Given the description of an element on the screen output the (x, y) to click on. 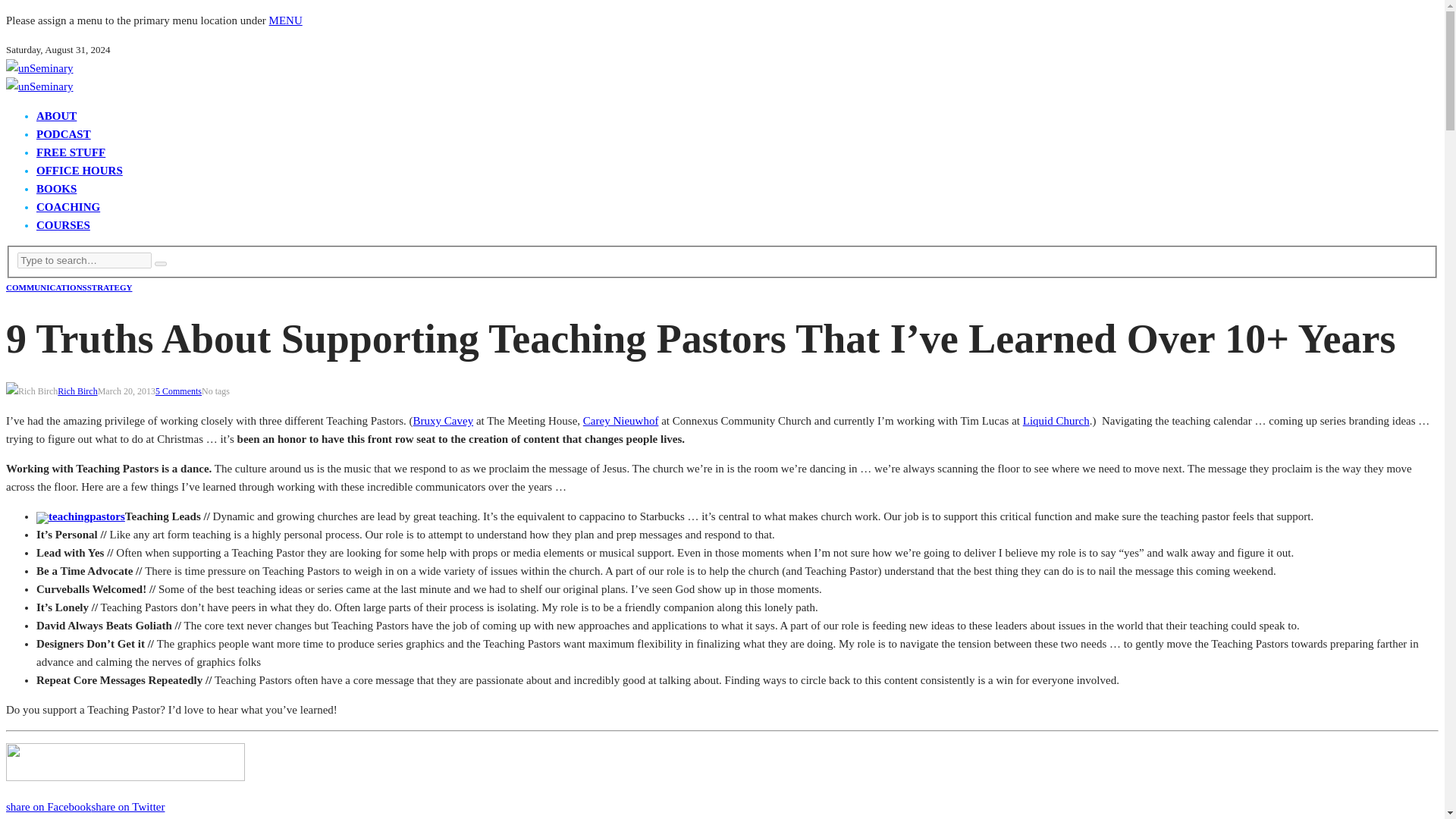
PODCAST (63, 133)
unSeminary (39, 86)
COACHING (68, 206)
MENU (285, 20)
OFFICE HOURS (79, 170)
Bruxy Cavey (443, 420)
Rich Birch (77, 390)
strategy (109, 286)
unSeminary (39, 68)
5 Comments (178, 390)
